Given the description of an element on the screen output the (x, y) to click on. 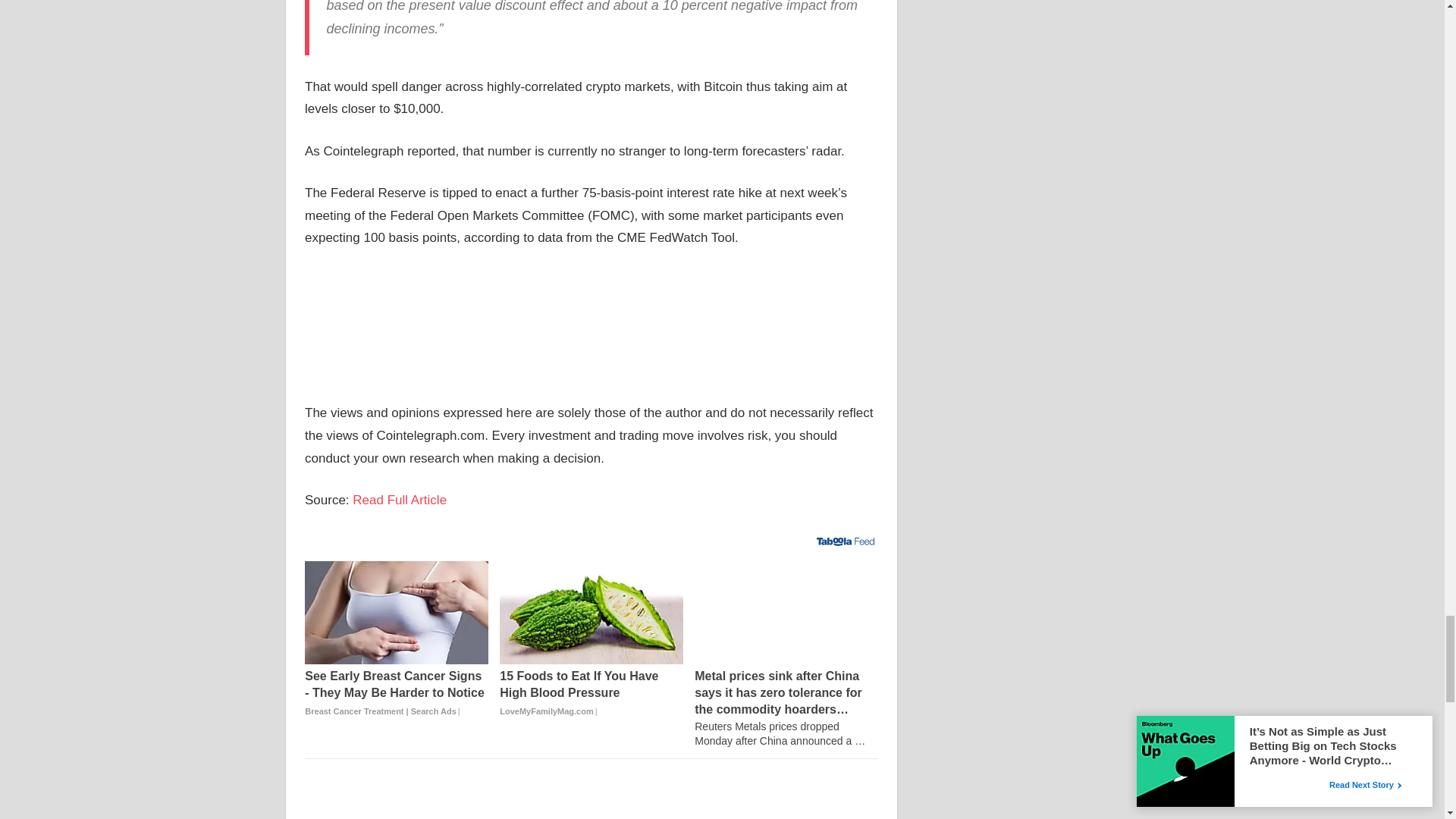
15 Foods to Eat If You Have High Blood Pressure (590, 612)
See Early Breast Cancer Signs - They May Be Harder to Notice (395, 612)
15 Foods to Eat If You Have High Blood Pressure (590, 693)
Read Full Article (399, 499)
See Early Breast Cancer Signs - They May Be Harder to Notice (395, 693)
